Given the description of an element on the screen output the (x, y) to click on. 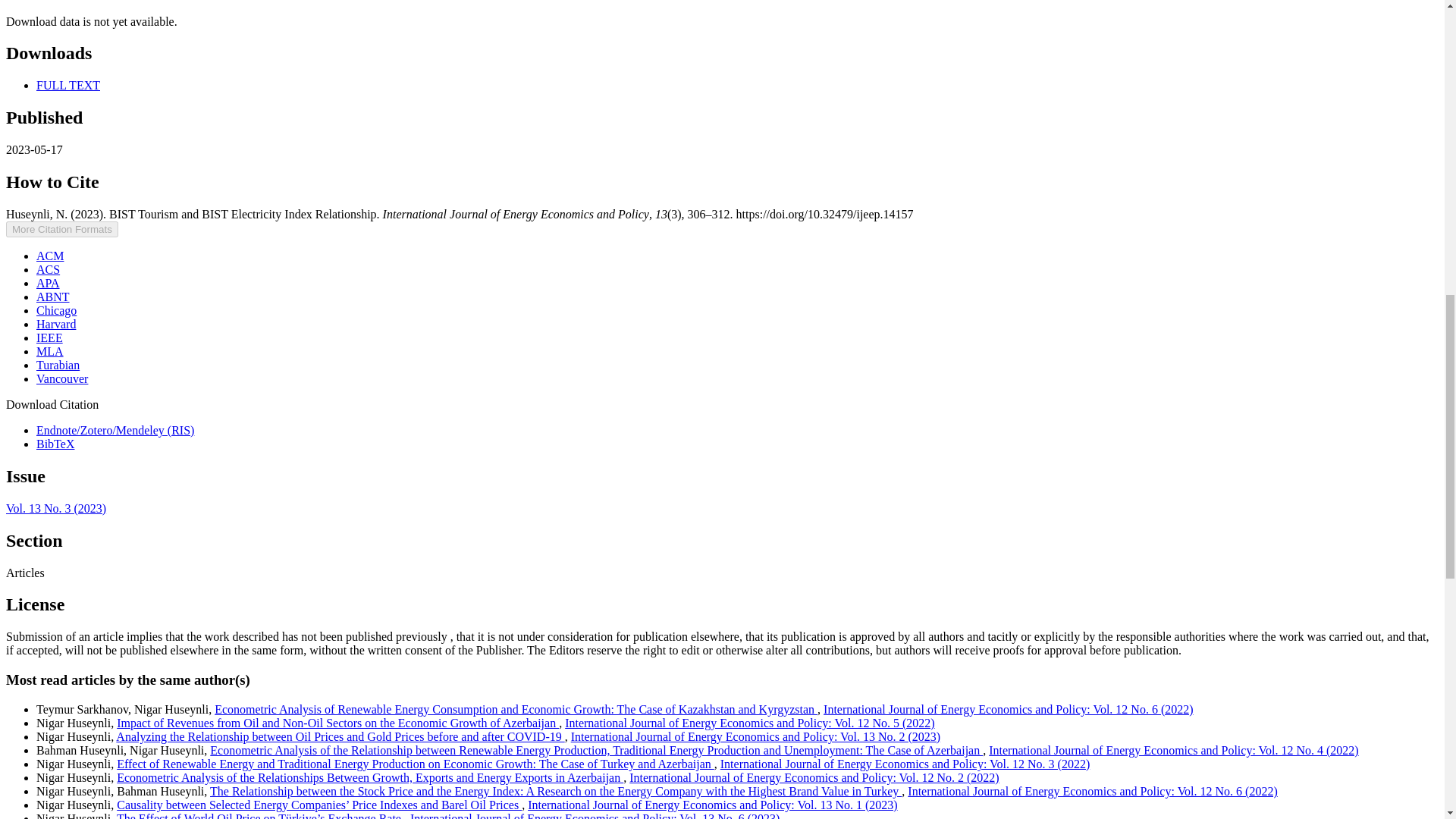
Chicago (56, 309)
ABNT (52, 296)
ACM (50, 255)
APA (47, 282)
FULL TEXT (68, 84)
IEEE (49, 337)
ACS (47, 269)
Harvard (55, 323)
Turabian (58, 364)
MLA (50, 350)
